Given the description of an element on the screen output the (x, y) to click on. 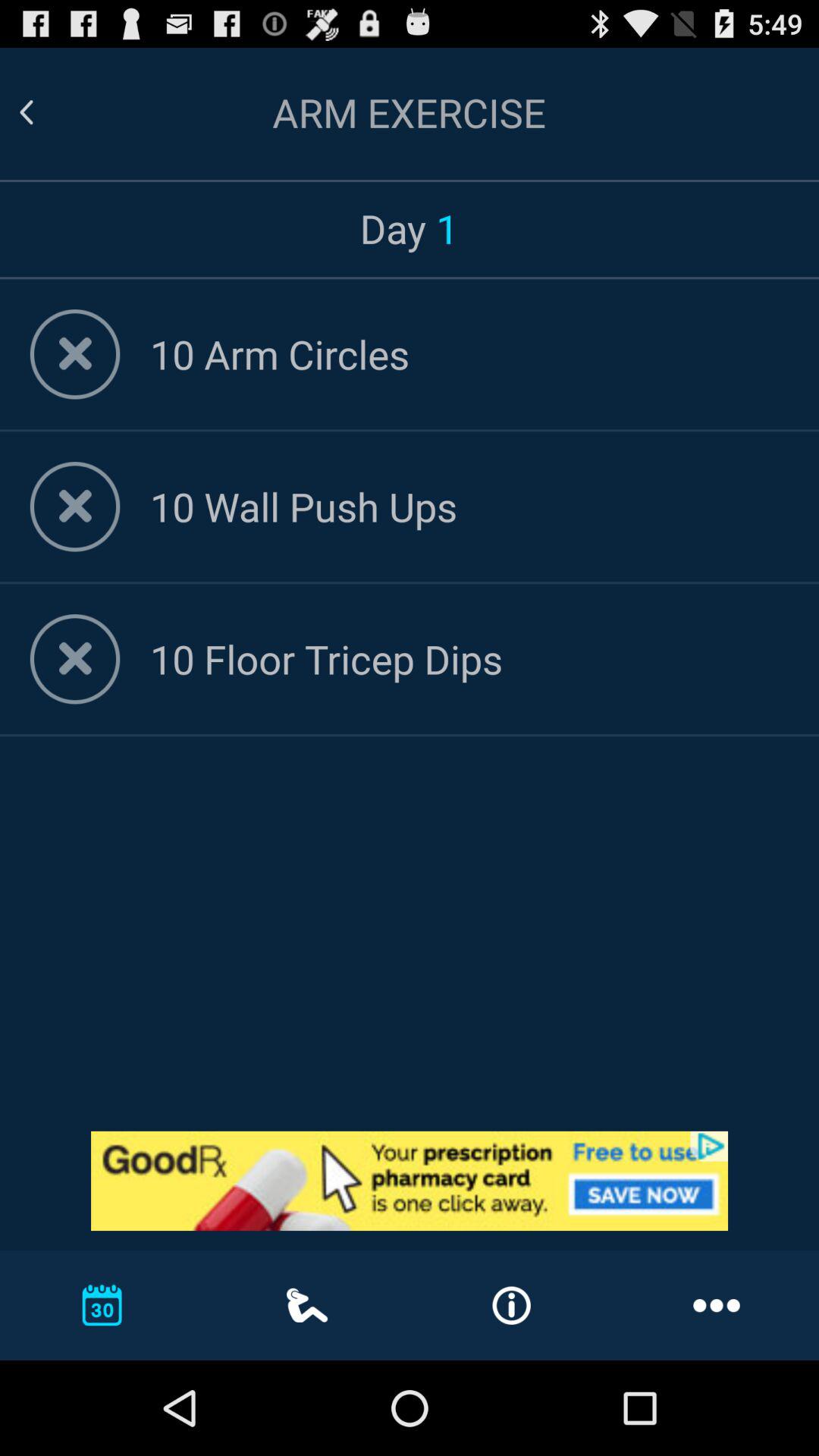
advertisement (409, 1180)
